Given the description of an element on the screen output the (x, y) to click on. 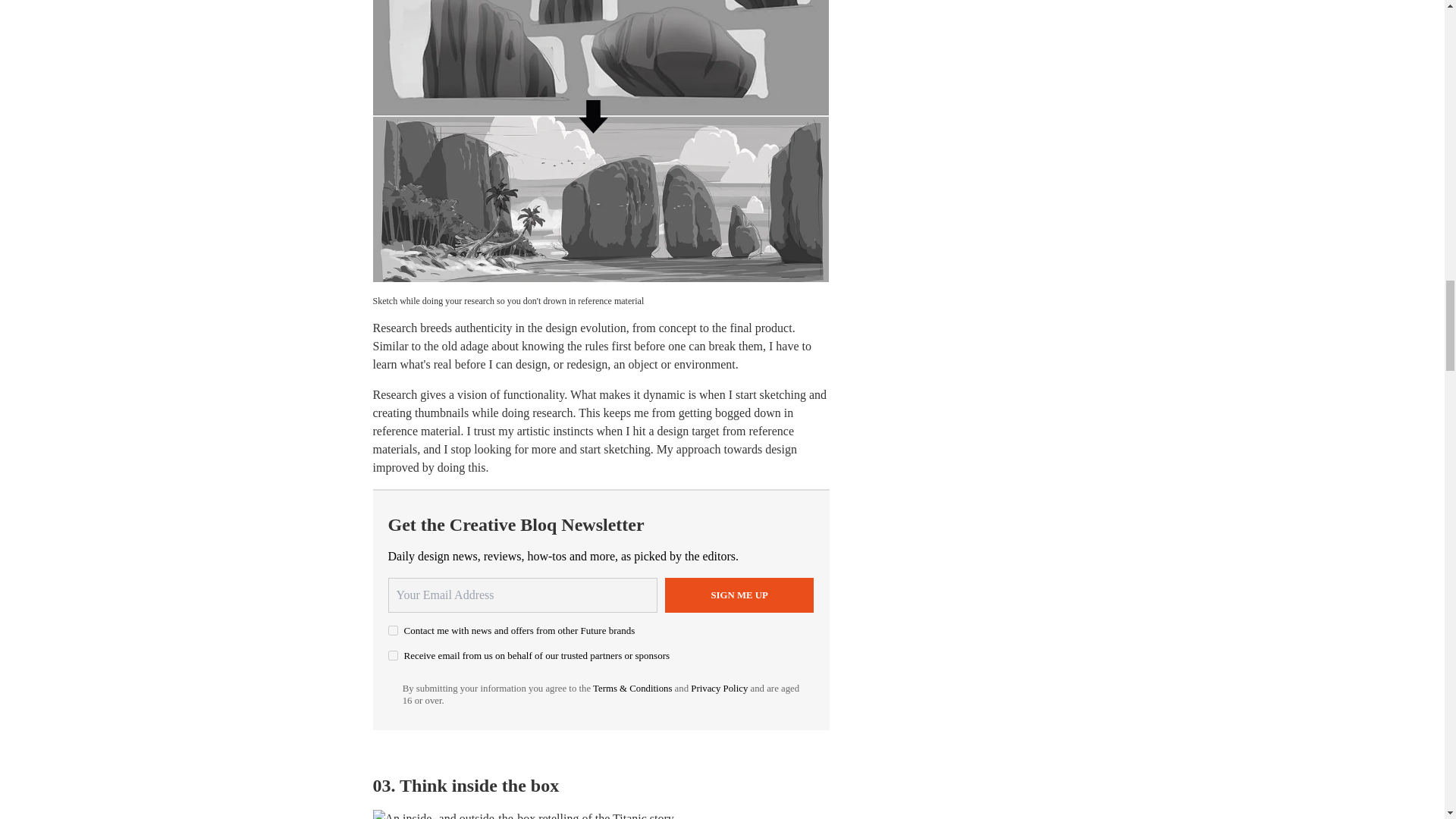
on (392, 630)
on (392, 655)
Sign me up (739, 595)
